Given the description of an element on the screen output the (x, y) to click on. 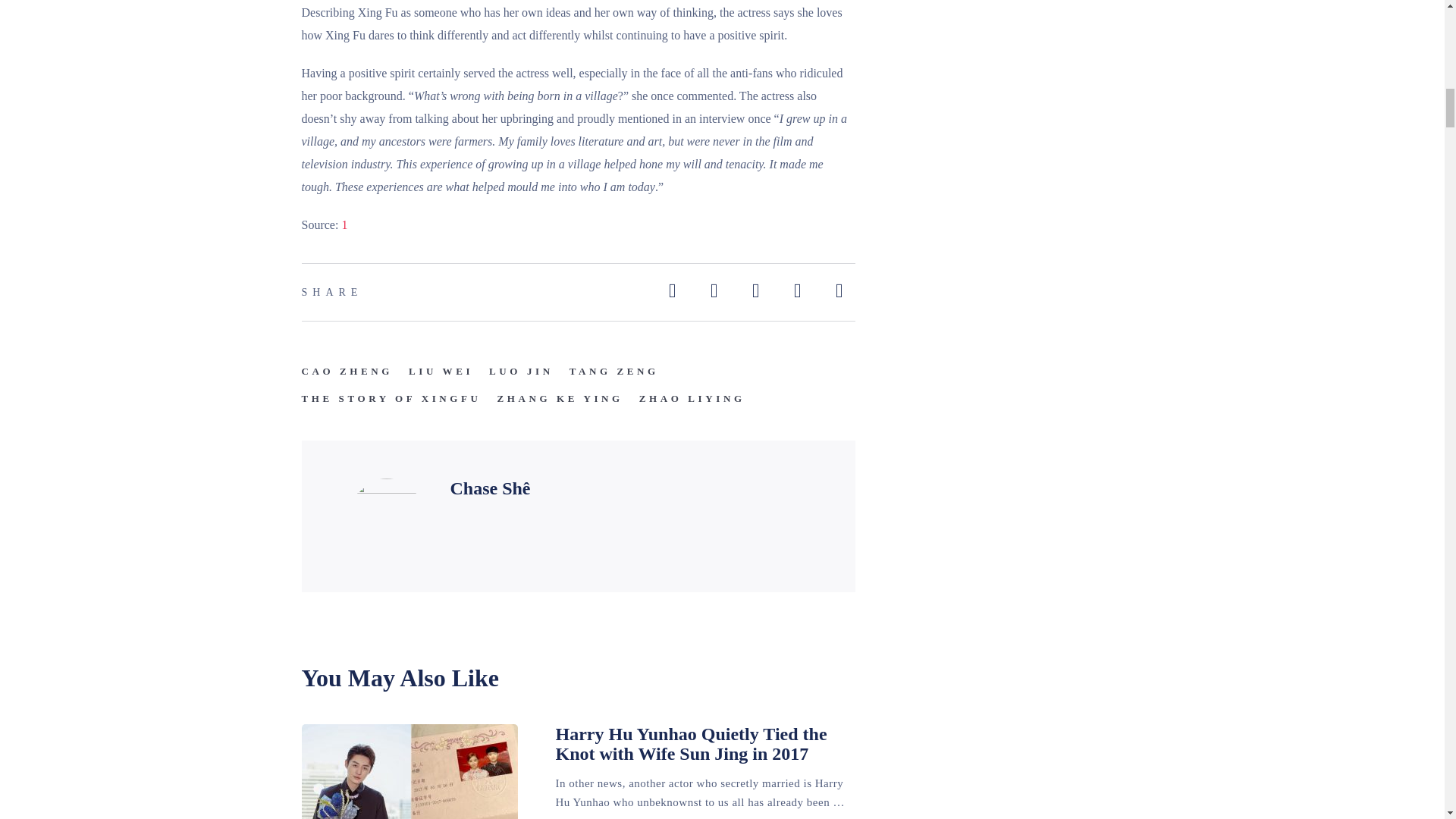
ZHANG KE YING (560, 398)
TANG ZENG (614, 371)
ZHAO LIYING (692, 398)
LIU WEI (441, 371)
LUO JIN (521, 371)
CAO ZHENG (347, 371)
THE STORY OF XINGFU (391, 398)
